Given the description of an element on the screen output the (x, y) to click on. 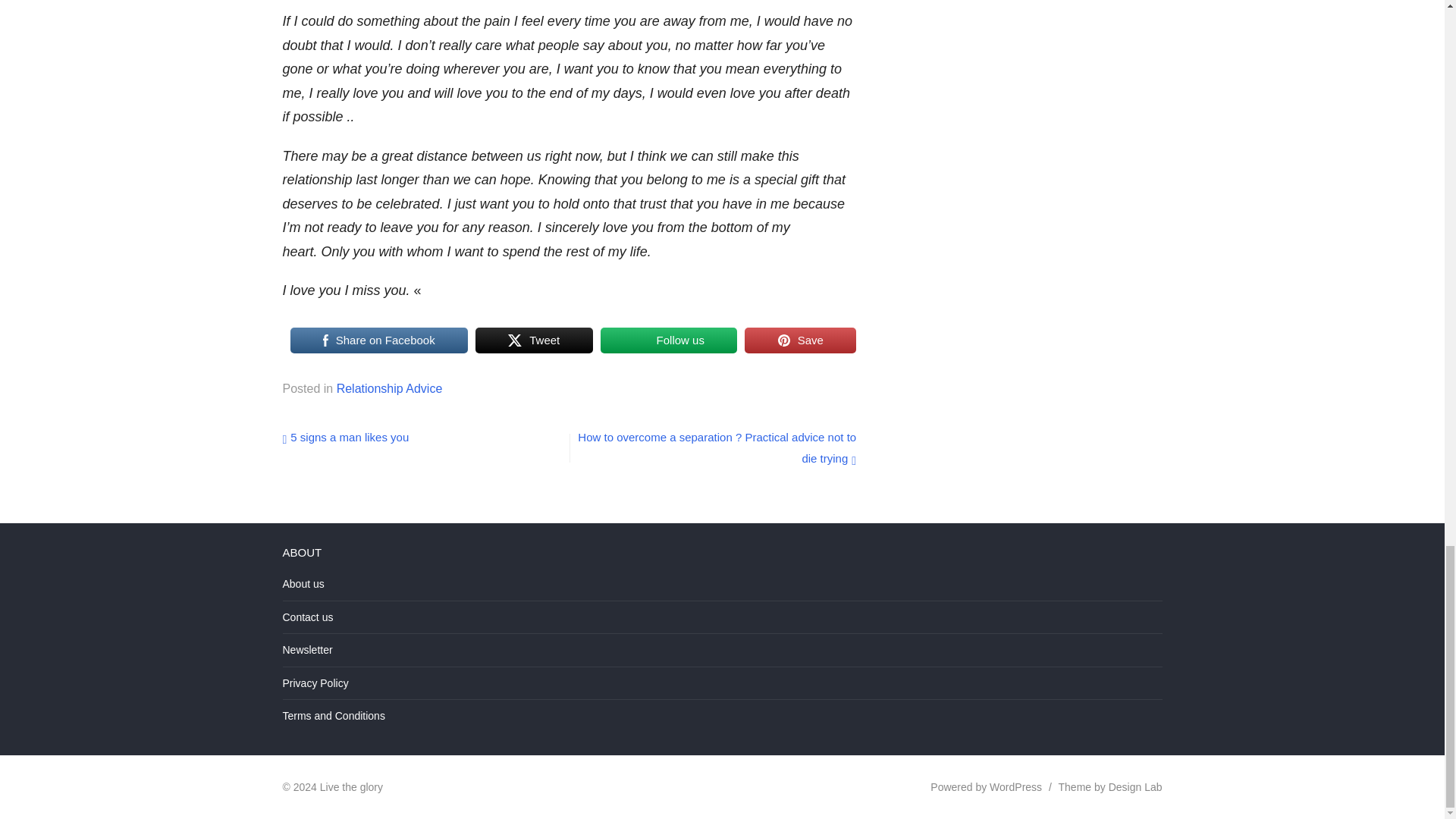
Tweet (534, 339)
Contact us (307, 616)
Relationship Advice (389, 387)
5 signs a man likes you (345, 436)
Save (800, 339)
Theme by Design Lab (1109, 787)
Newsletter (306, 649)
Privacy Policy (314, 683)
Powered by WordPress (986, 787)
About us (302, 583)
Follow us (668, 339)
Terms and Conditions (333, 715)
Share on Facebook (378, 339)
